Given the description of an element on the screen output the (x, y) to click on. 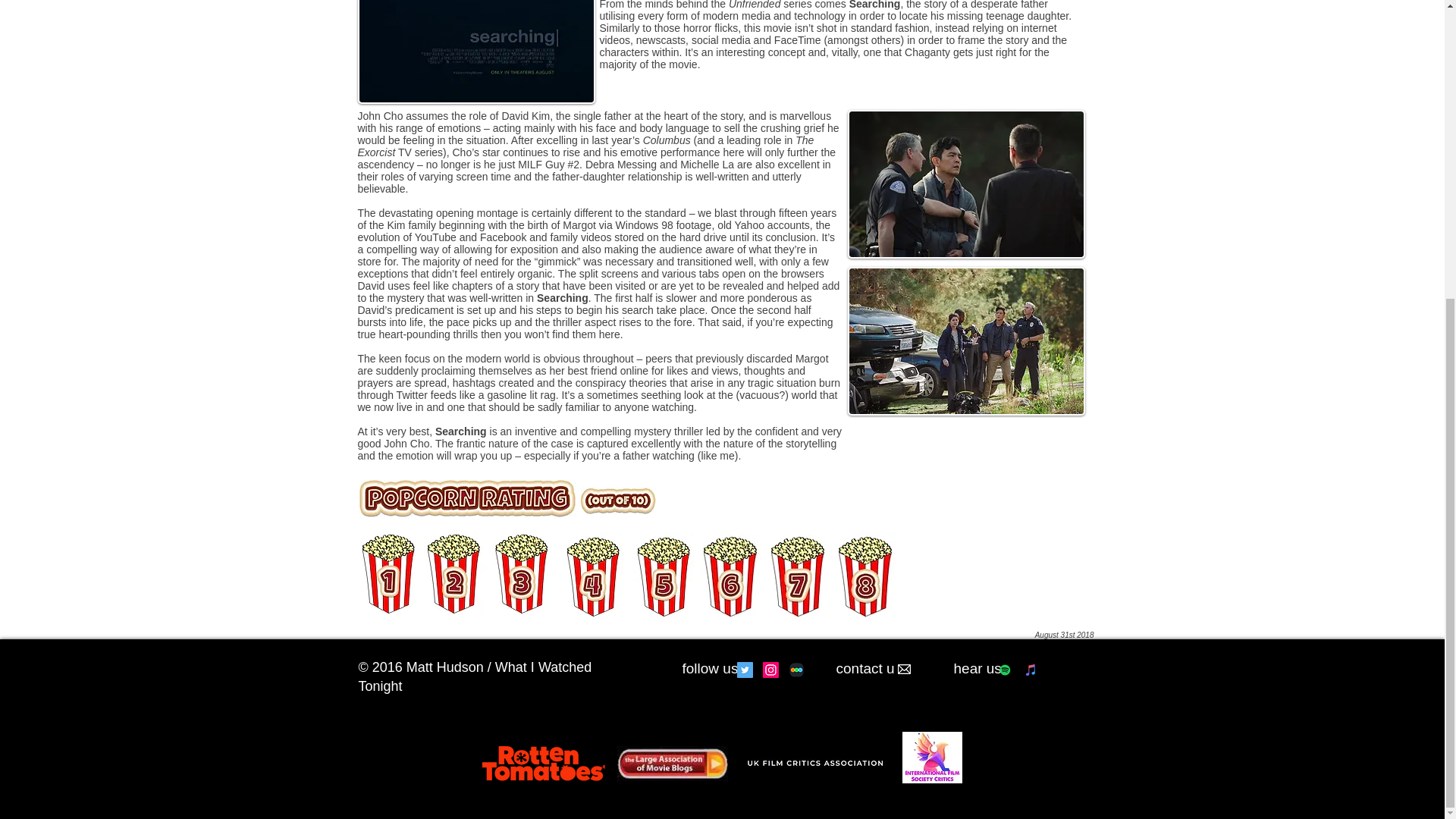
Popcorn 3.jpg (522, 574)
Popcorn 6.jpg (729, 577)
Popcorn 4.jpg (593, 577)
Popcorn 7.jpg (798, 577)
Popcorn 5.jpg (662, 577)
Popcorn 8.jpg (865, 577)
